Given the description of an element on the screen output the (x, y) to click on. 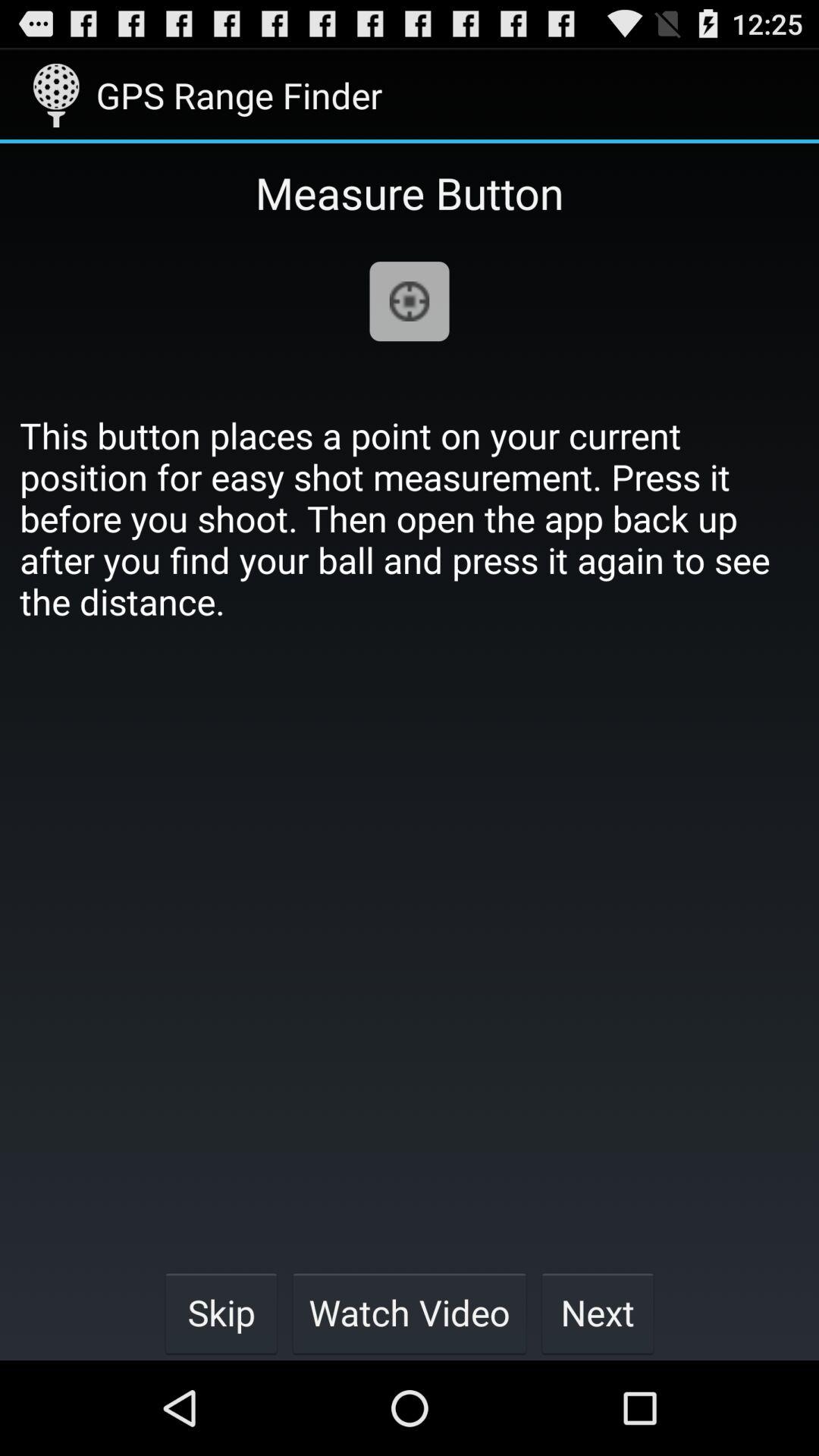
launch the item next to next button (409, 1312)
